Given the description of an element on the screen output the (x, y) to click on. 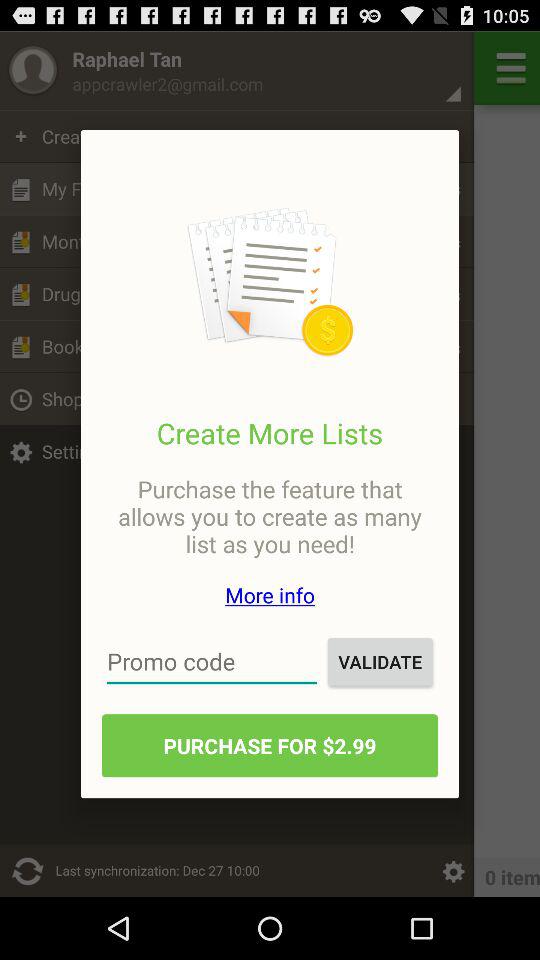
tap validate item (379, 661)
